Given the description of an element on the screen output the (x, y) to click on. 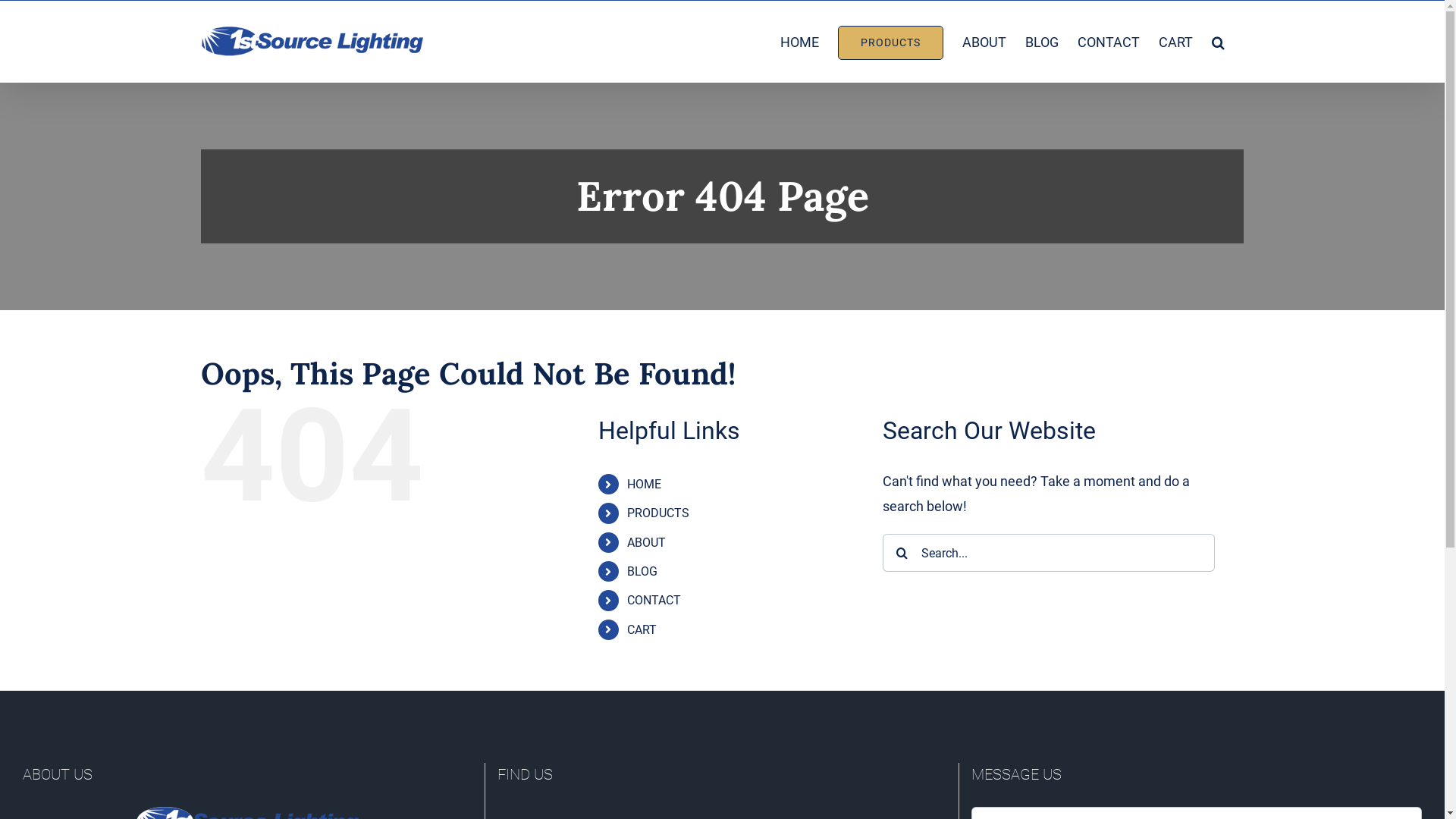
CONTACT Element type: text (1108, 40)
CONTACT Element type: text (653, 600)
HOME Element type: text (644, 483)
BLOG Element type: text (642, 571)
ABOUT Element type: text (646, 542)
PRODUCTS Element type: text (658, 512)
CART Element type: text (641, 629)
ABOUT Element type: text (984, 40)
BLOG Element type: text (1041, 40)
CART Element type: text (1175, 40)
HOME Element type: text (799, 40)
Search Element type: hover (1217, 40)
PRODUCTS Element type: text (890, 40)
